Given the description of an element on the screen output the (x, y) to click on. 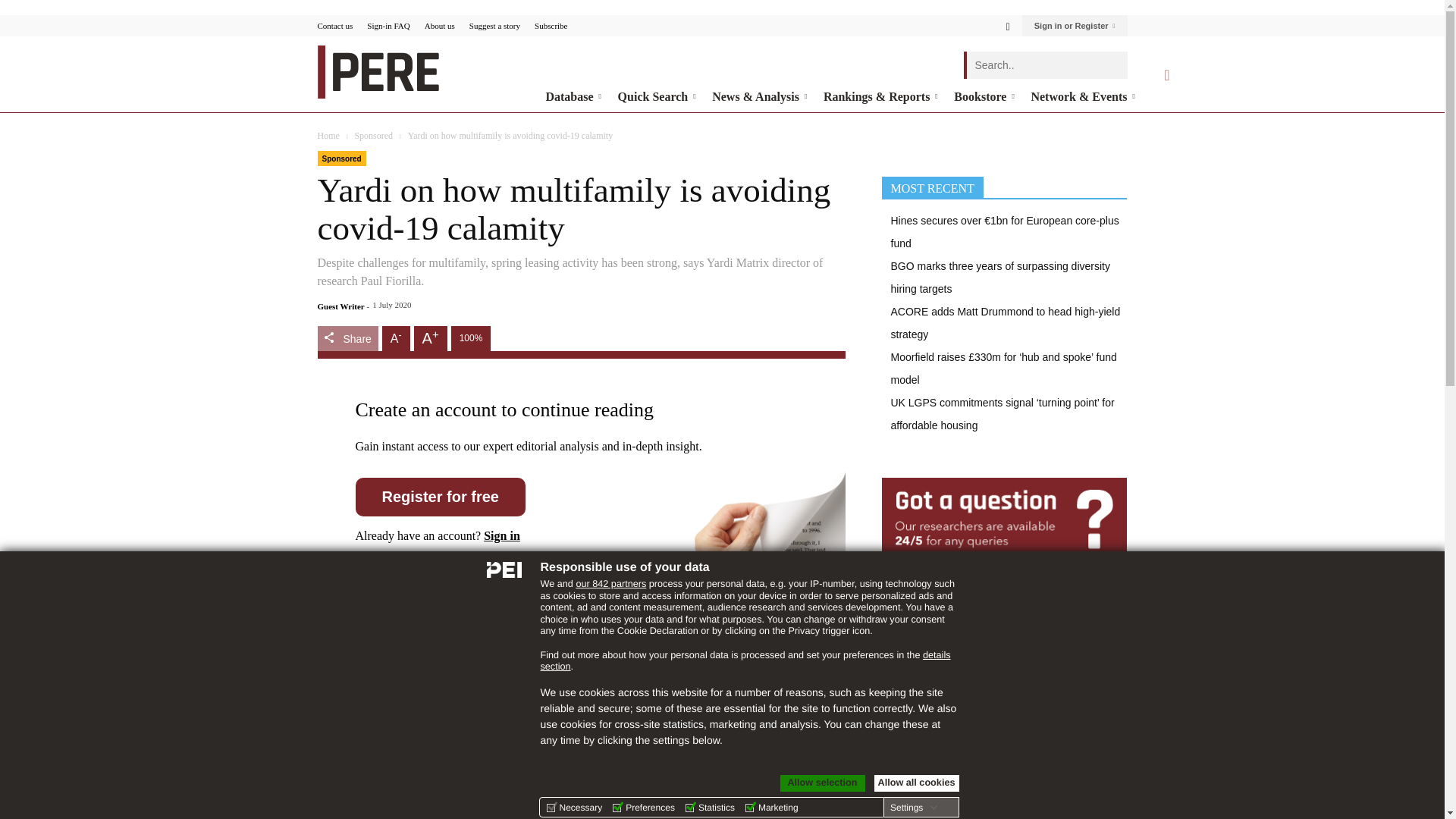
Settings (913, 807)
our 842 partners (610, 583)
Allow all cookies (915, 782)
Allow selection (821, 782)
details section (745, 661)
